Given the description of an element on the screen output the (x, y) to click on. 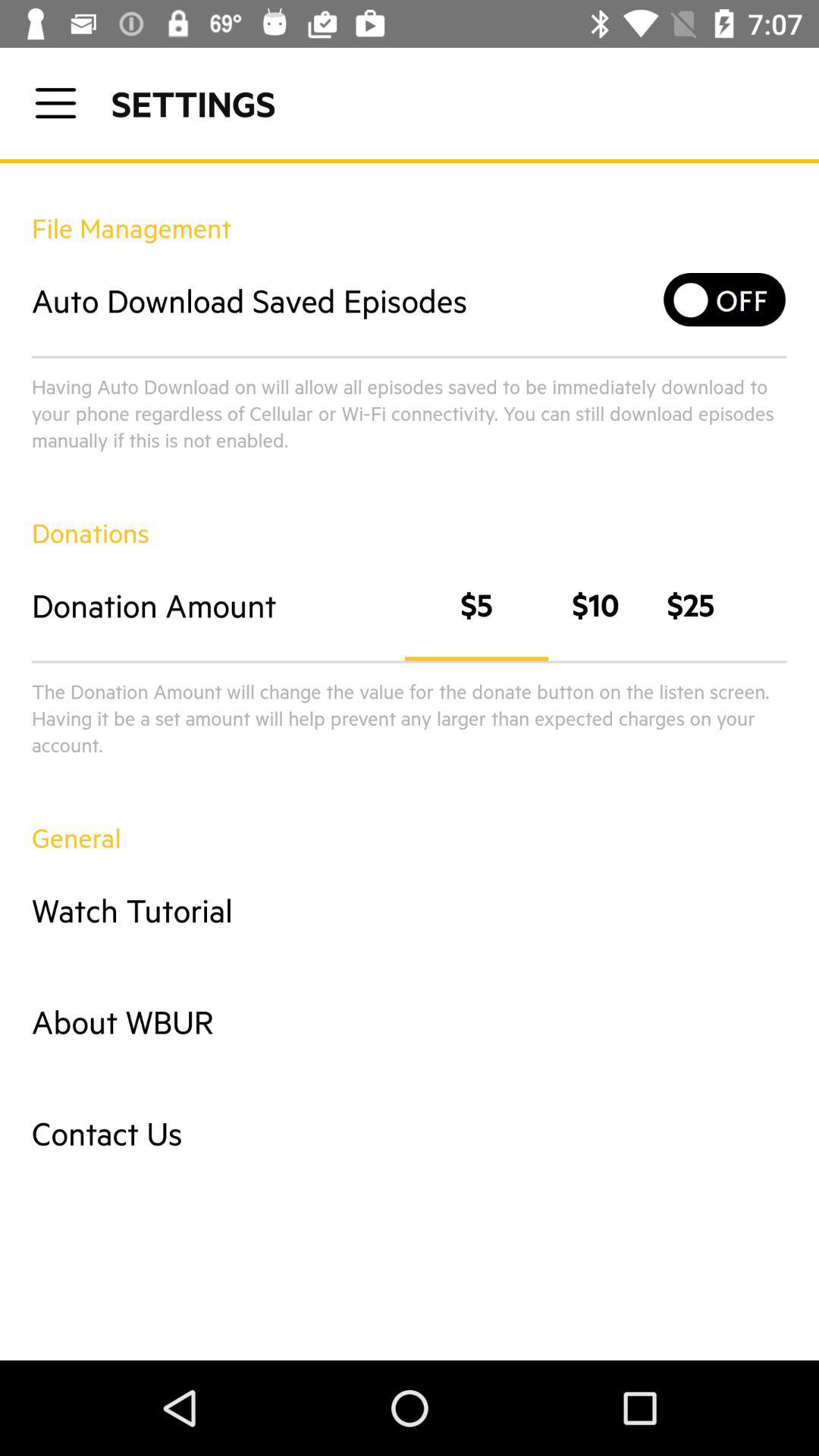
press the icon next to auto download saved item (725, 300)
